Given the description of an element on the screen output the (x, y) to click on. 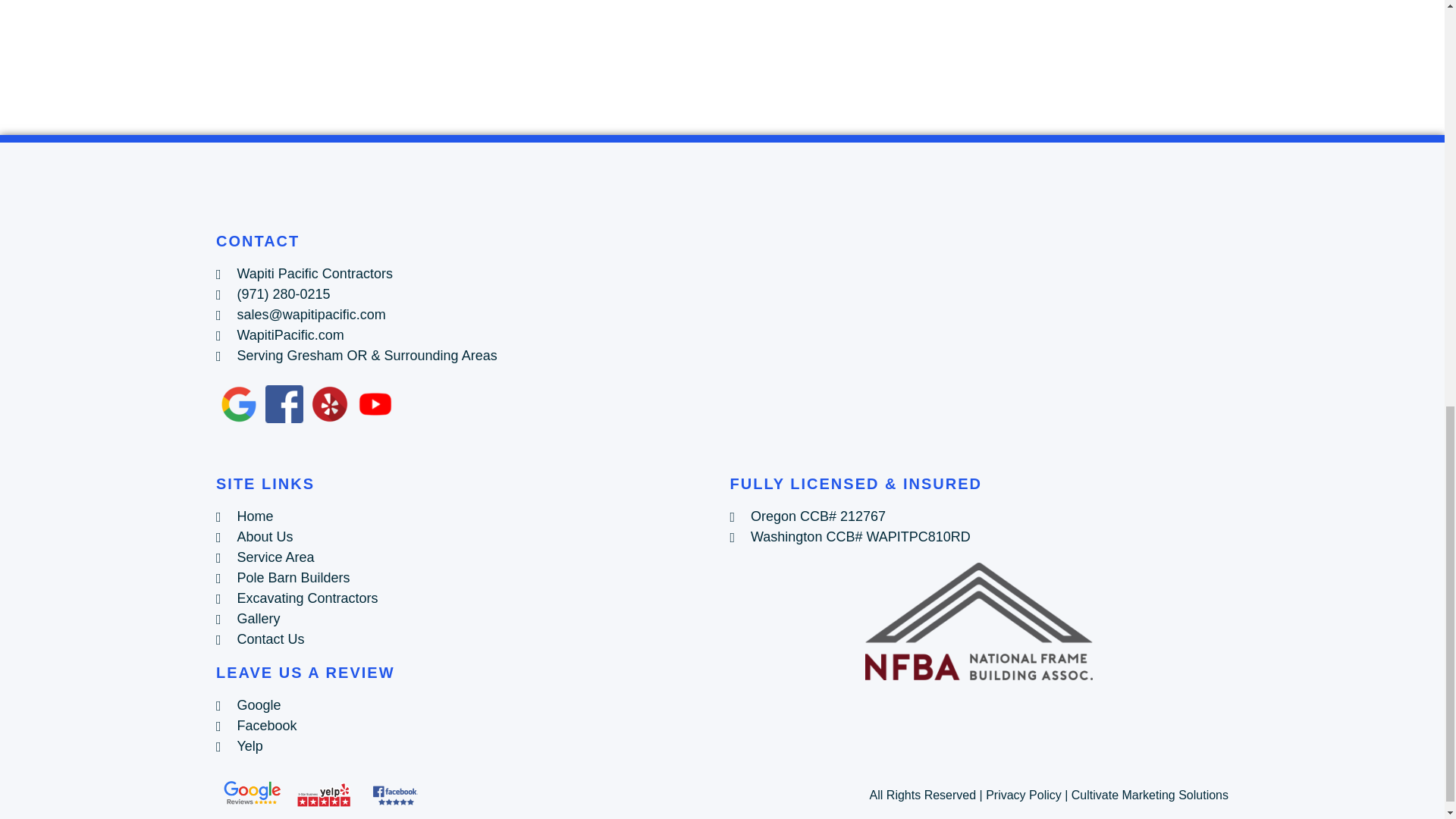
yelp.png (330, 403)
facebook.png (283, 403)
youtube icon (375, 403)
Wapiti Pacific Contractors Gresham OR (978, 347)
Molalla, Oregon (722, 63)
google.png (238, 403)
